Given the description of an element on the screen output the (x, y) to click on. 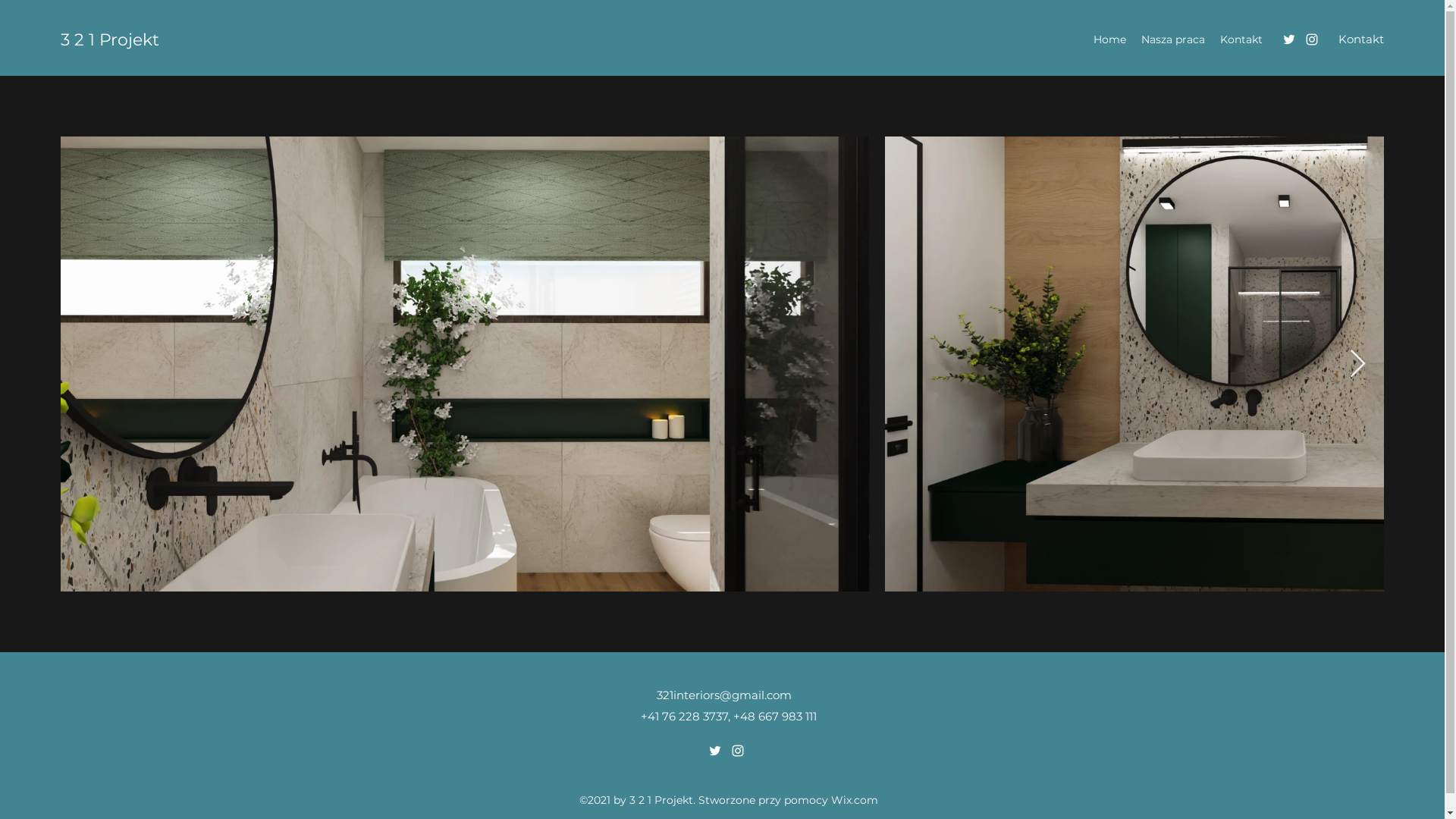
Home Element type: text (1109, 39)
Kontakt Element type: text (1241, 39)
Kontakt Element type: text (1360, 39)
321interiors@gmail.com Element type: text (723, 694)
Nasza praca Element type: text (1172, 39)
3 2 1 Projekt Element type: text (109, 39)
